Given the description of an element on the screen output the (x, y) to click on. 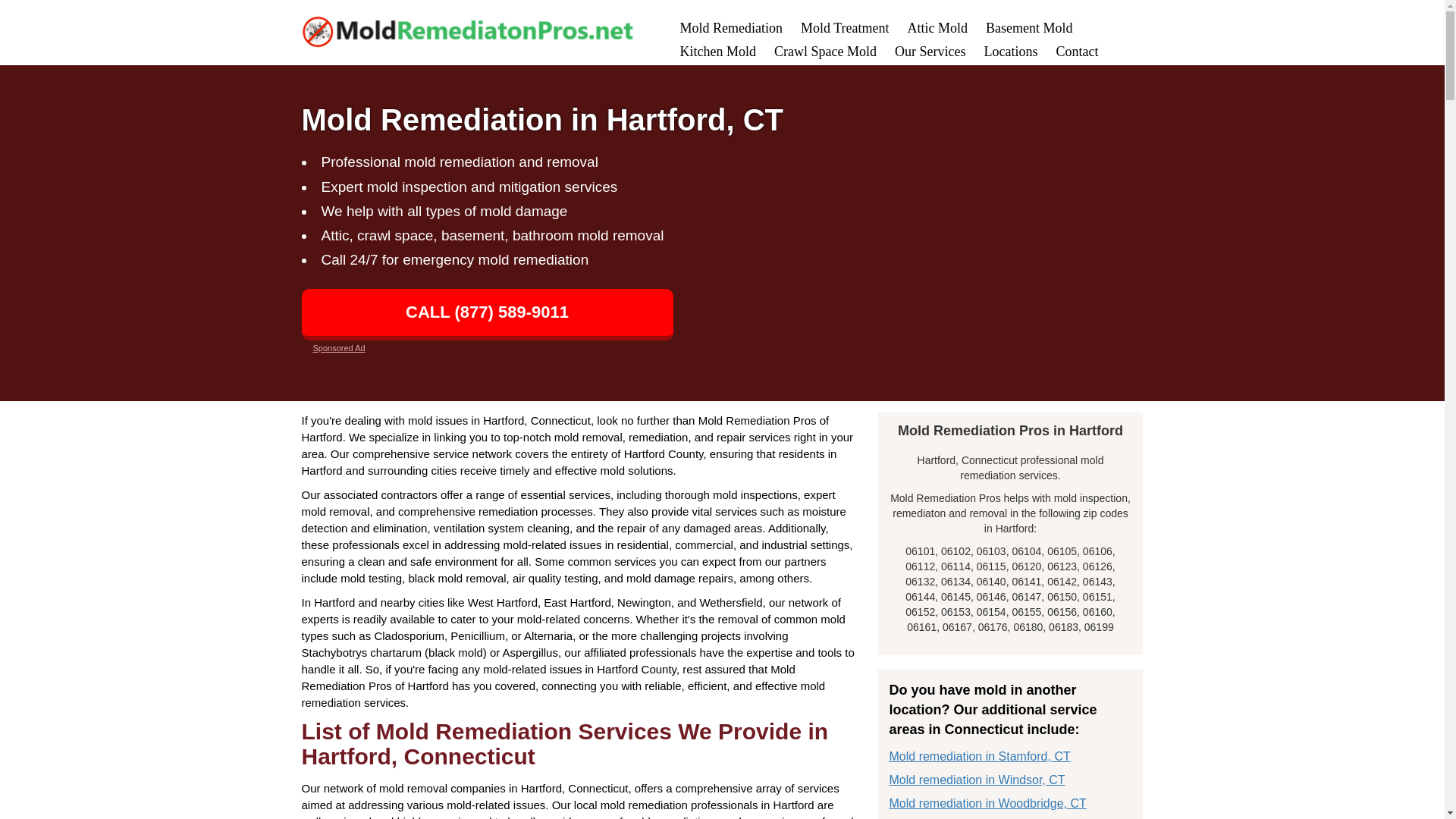
Mold Remediation Near Me (730, 28)
Mold Treatment (844, 28)
Mold remediation in Woodbridge, CT (987, 802)
Mold Treatment Near Me (844, 28)
Our Mold Remediation Service Areas (1010, 51)
Contact (1076, 51)
Crawl Space Mold (825, 51)
Attic Mold (937, 28)
Locations (1010, 51)
Mold Remediation in Windsor, CT (976, 779)
